Given the description of an element on the screen output the (x, y) to click on. 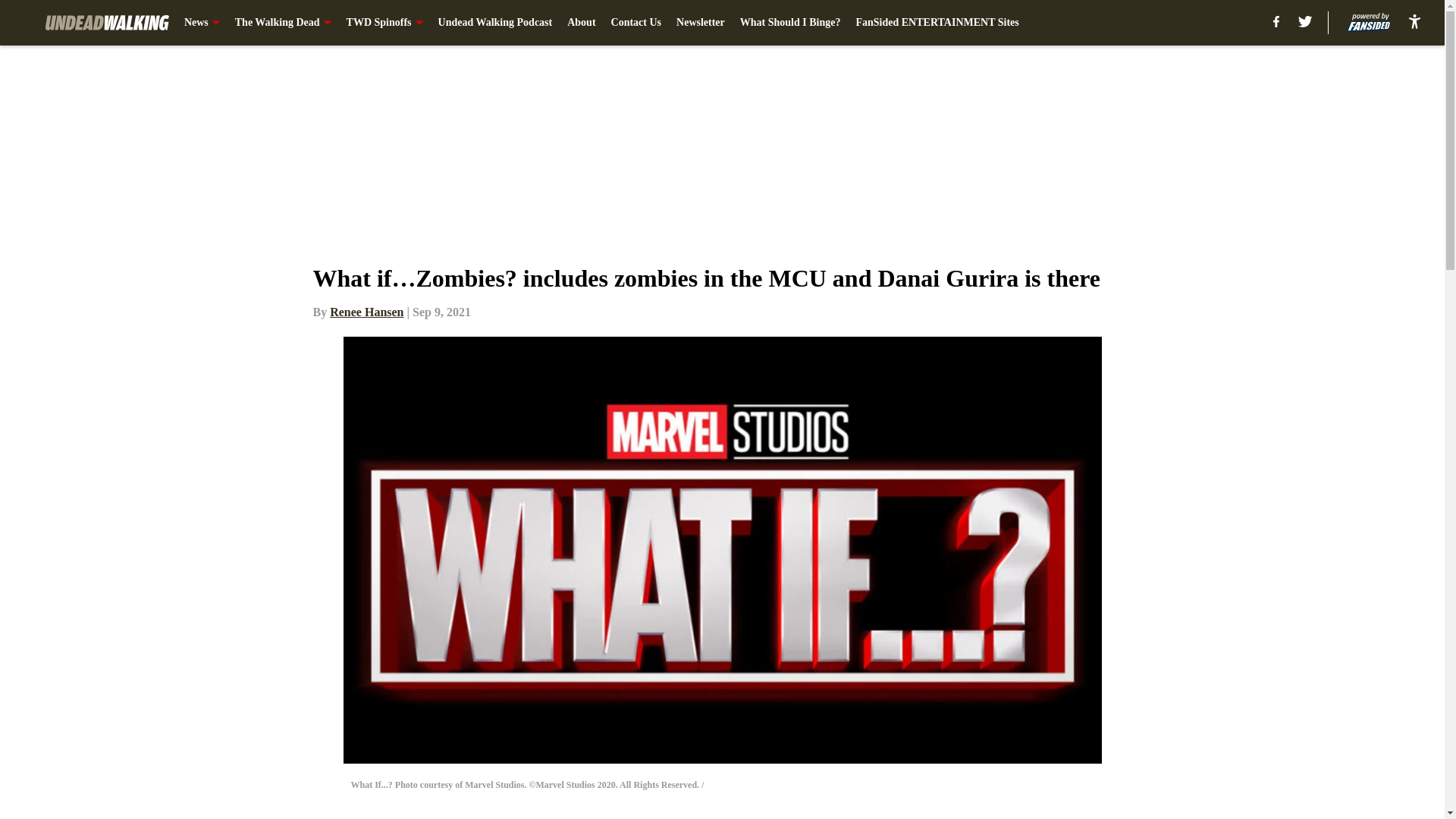
Newsletter (701, 22)
Undead Walking Podcast (495, 22)
FanSided ENTERTAINMENT Sites (936, 22)
About (581, 22)
Contact Us (636, 22)
Renee Hansen (366, 311)
What Should I Binge? (790, 22)
